Given the description of an element on the screen output the (x, y) to click on. 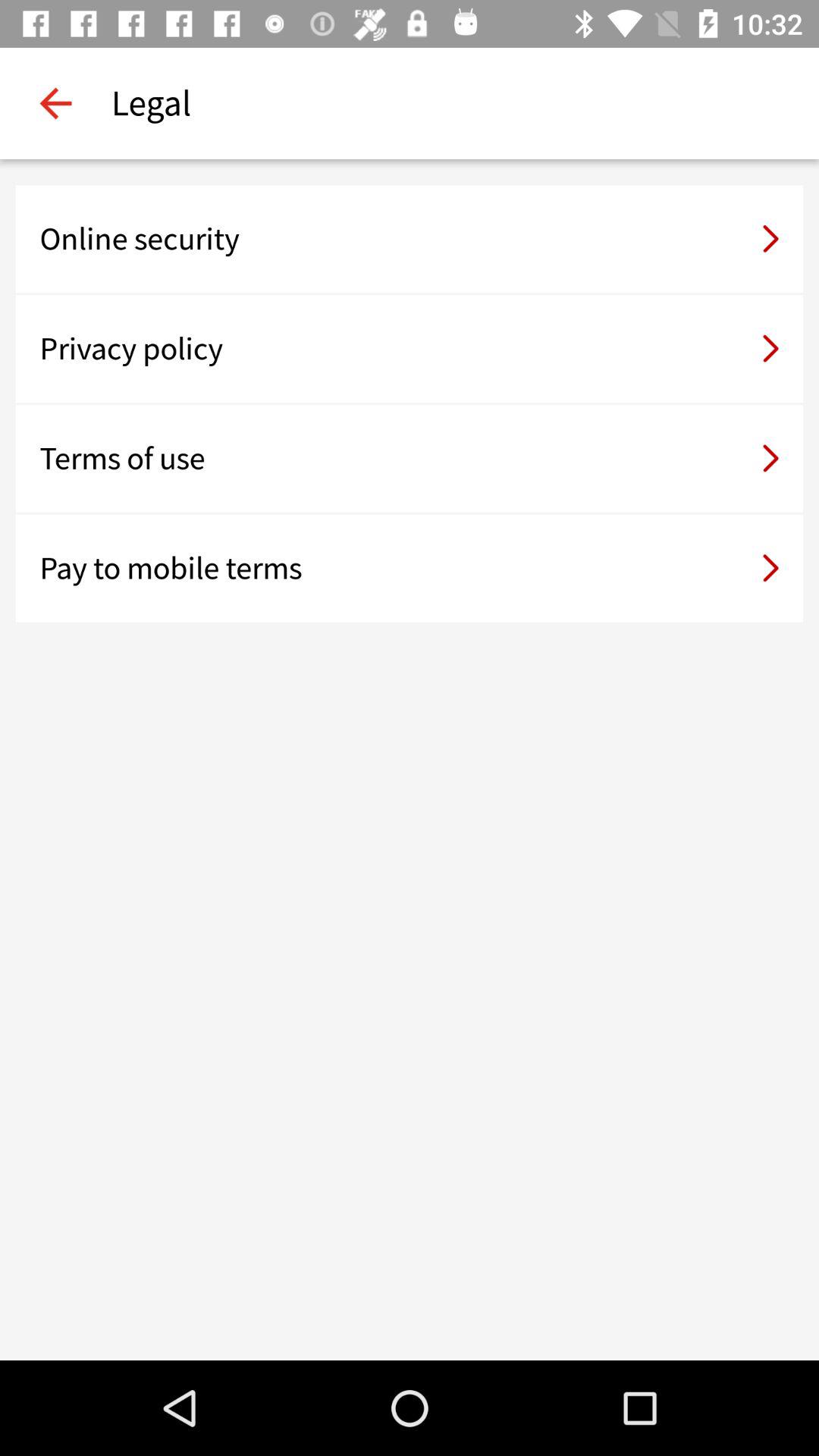
tap icon above online security icon (55, 103)
